Given the description of an element on the screen output the (x, y) to click on. 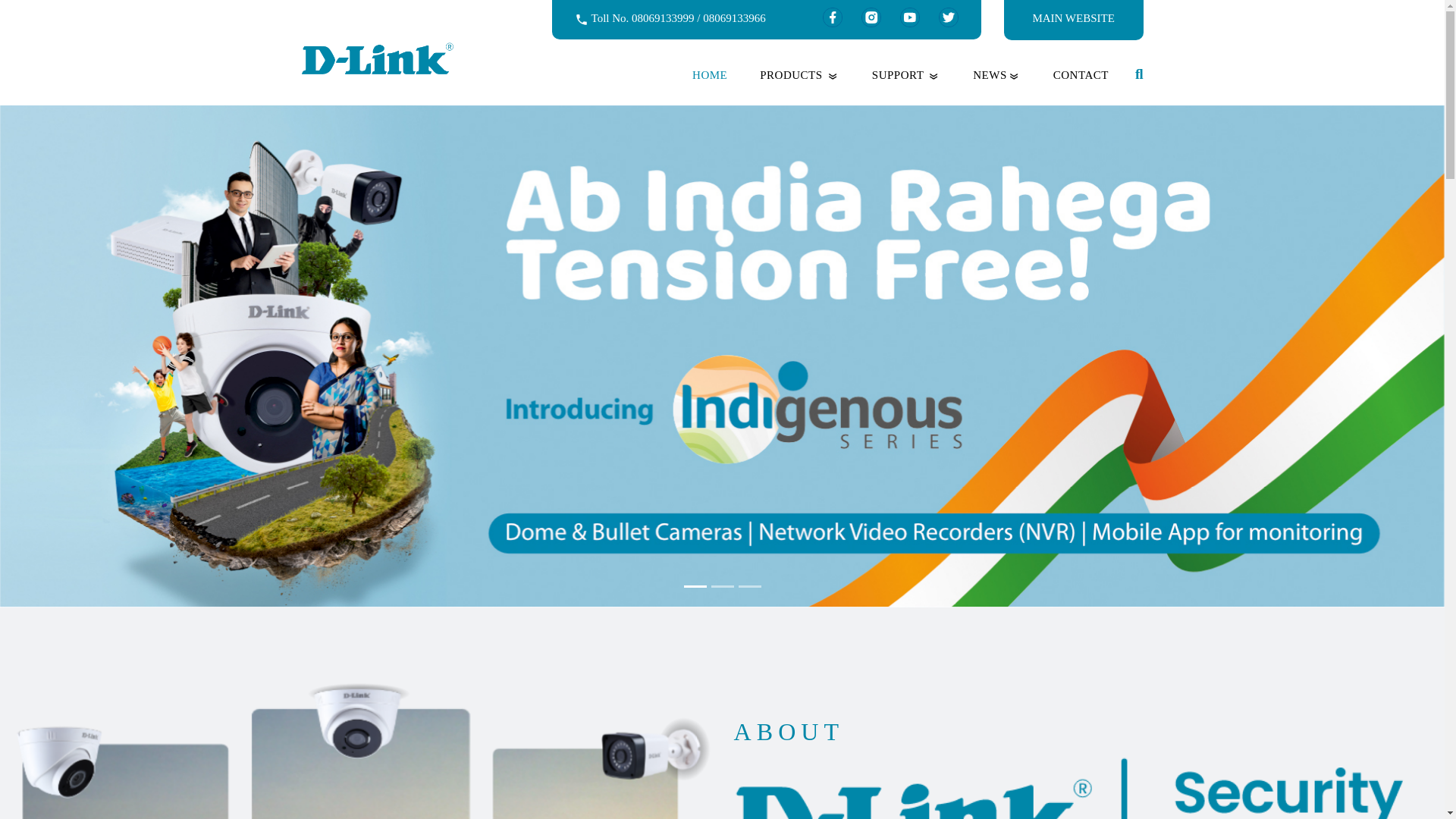
PRODUCTS (797, 75)
HOME (705, 75)
MAIN WEBSITE (1073, 18)
SUPPORT (903, 75)
CONTACT (1077, 75)
NEWS (993, 75)
